Given the description of an element on the screen output the (x, y) to click on. 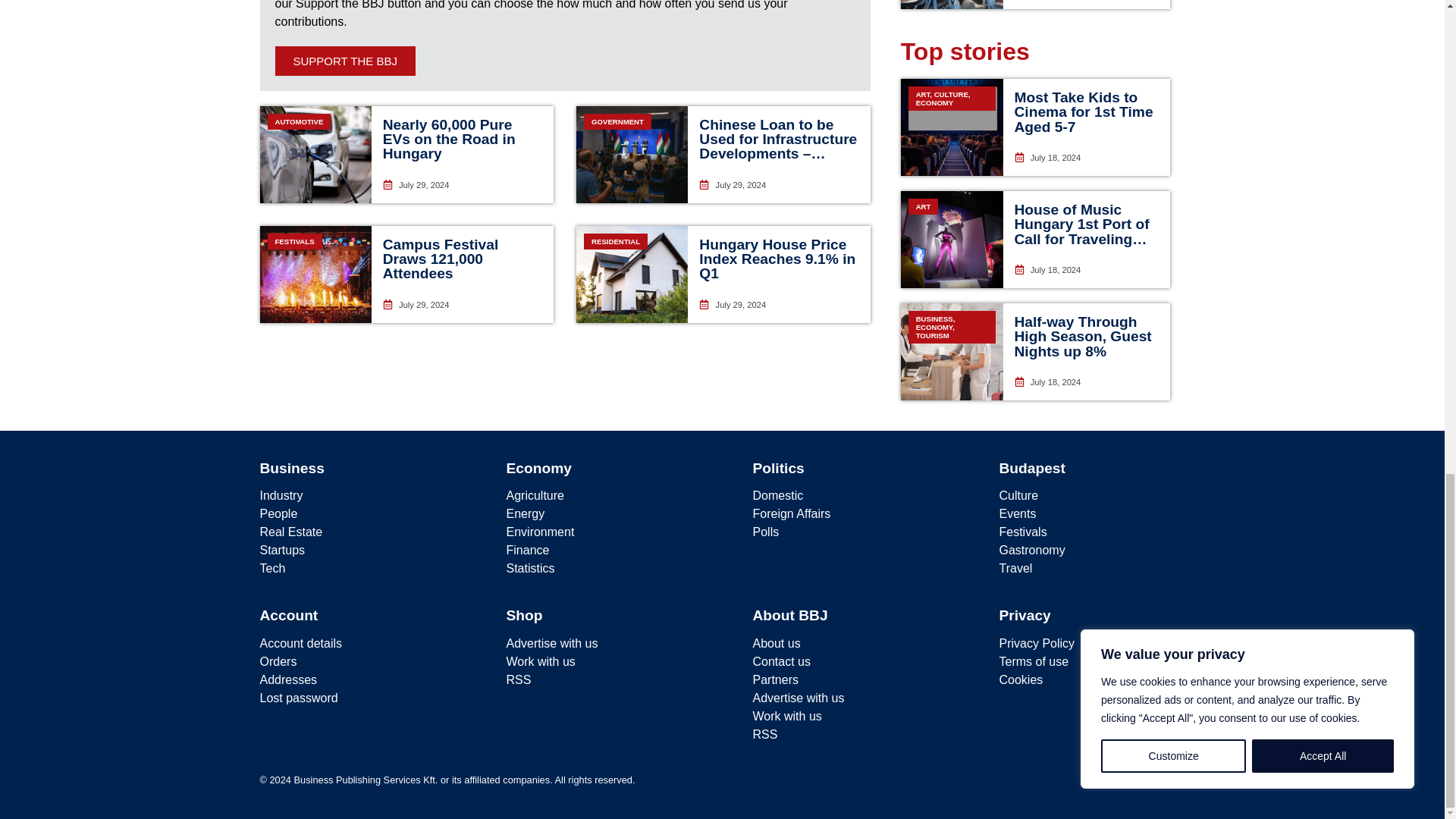
GOVERNMENT (631, 154)
AUTOMOTIVE (315, 154)
Nearly 60,000 Pure EVs on the Road in Hungary (448, 139)
Campus Festival Draws 121,000 Attendees (440, 258)
RESIDENTIAL (631, 274)
SUPPORT THE BBJ (344, 60)
FESTIVALS (315, 274)
